Given the description of an element on the screen output the (x, y) to click on. 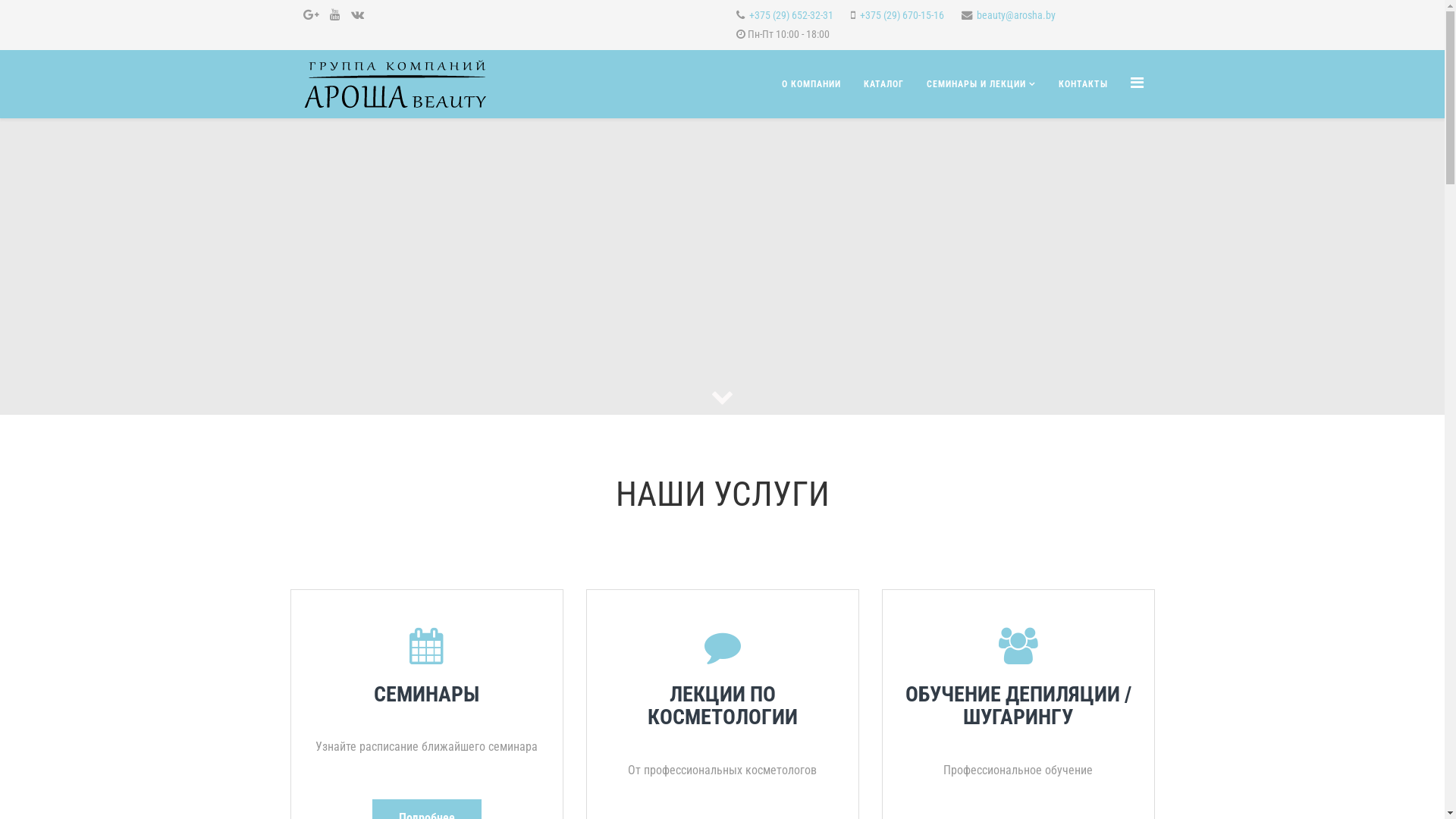
beauty@arosha.by Element type: text (1015, 15)
+375 (29) 652-32-31 Element type: text (791, 15)
+375 (29) 670-15-16 Element type: text (901, 15)
